Given the description of an element on the screen output the (x, y) to click on. 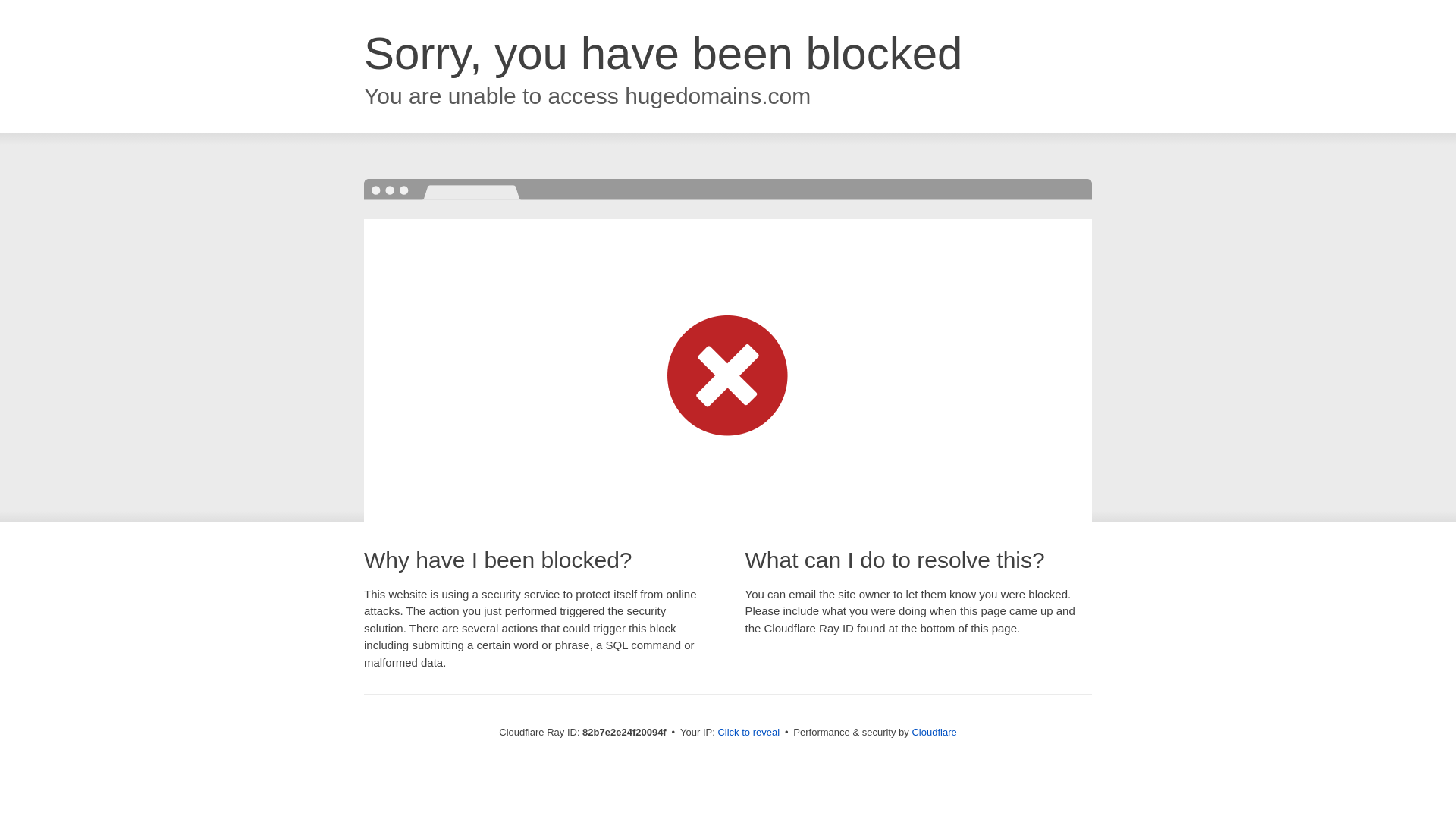
Cloudflare Element type: text (933, 731)
Click to reveal Element type: text (748, 732)
